Given the description of an element on the screen output the (x, y) to click on. 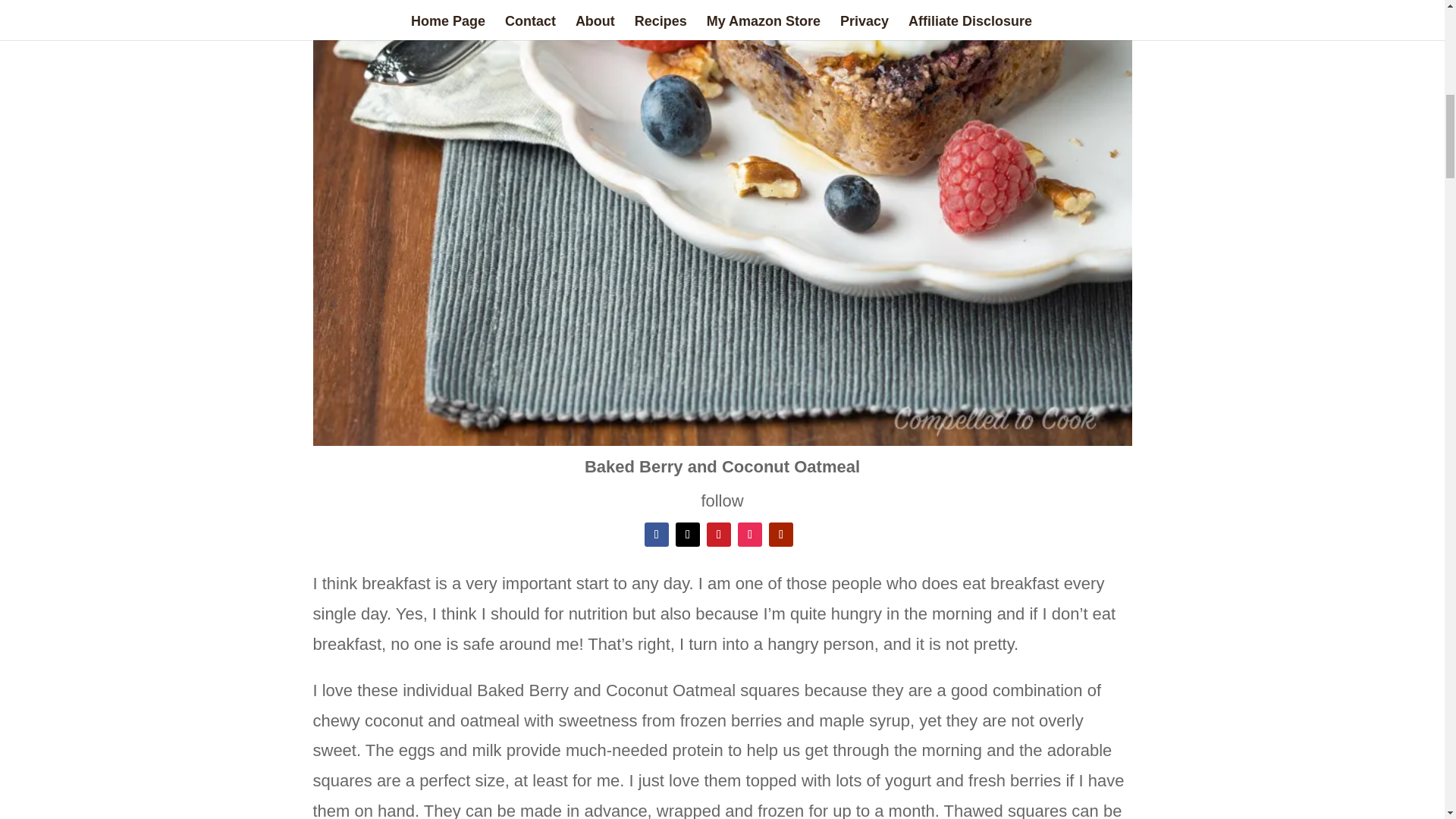
Follow on Pinterest (718, 534)
Follow on Youtube (780, 534)
Follow on Twitter (687, 534)
Follow on Facebook (656, 534)
Follow on Instagram (749, 534)
